Given the description of an element on the screen output the (x, y) to click on. 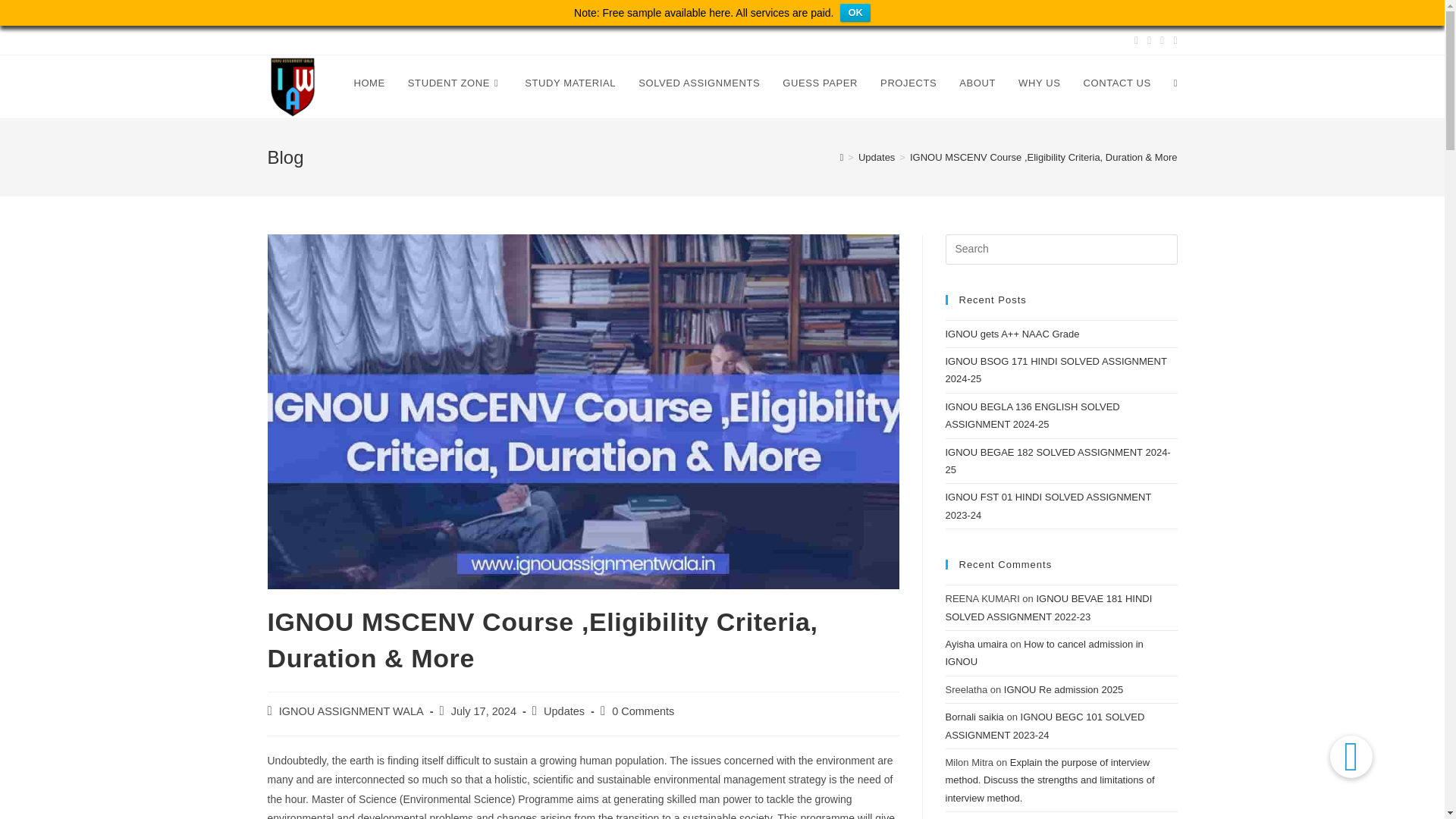
HOME (369, 83)
GUESS PAPER (820, 83)
SOLVED ASSIGNMENTS (699, 83)
WHY US (1039, 83)
STUDENT ZONE (454, 83)
OK (855, 13)
STUDY MATERIAL (570, 83)
Posts by IGNOU ASSIGNMENT WALA (351, 711)
ABOUT (977, 83)
CONTACT US (1116, 83)
